Given the description of an element on the screen output the (x, y) to click on. 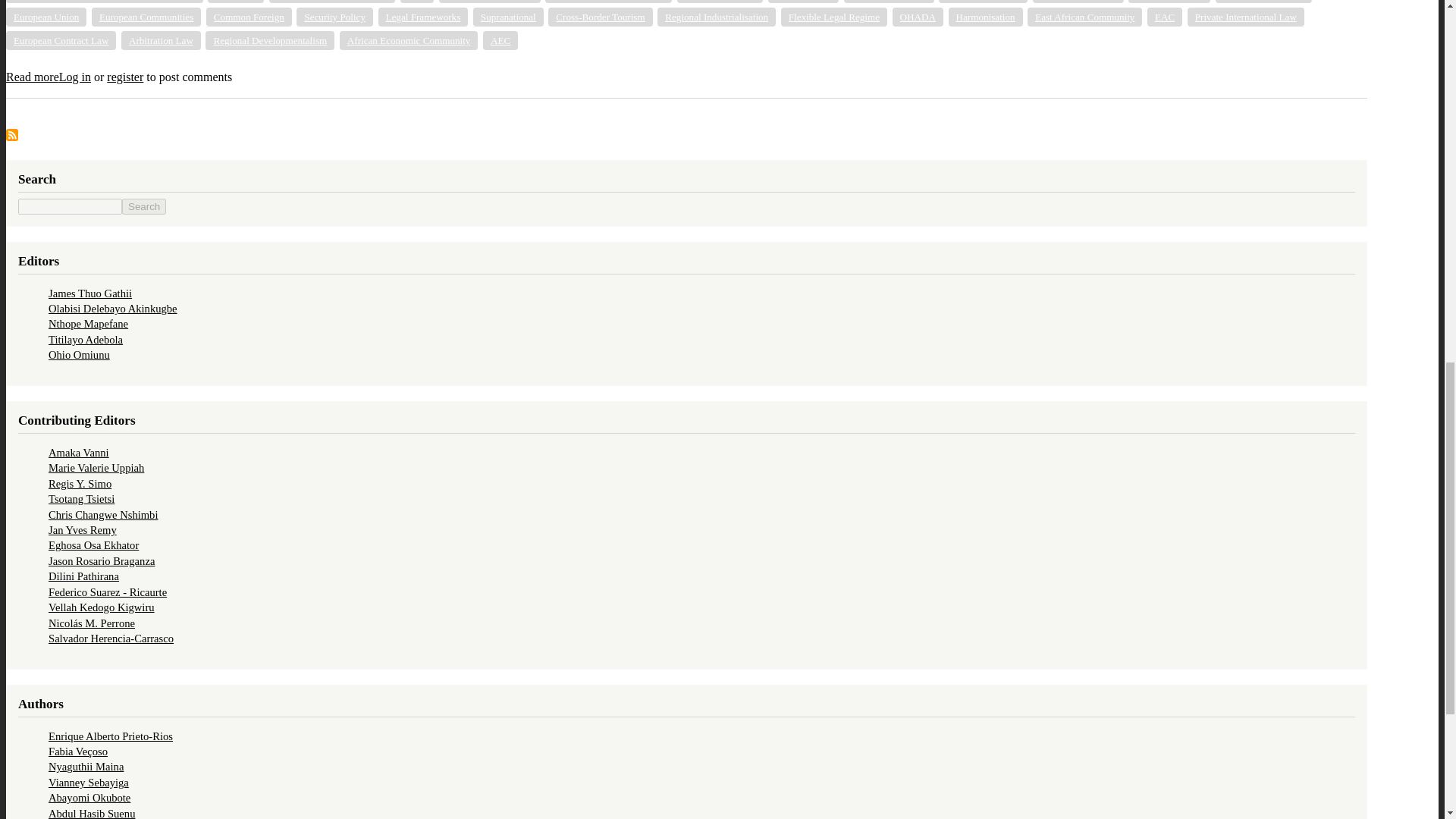
Regional Community Court (607, 1)
ECOWAS (235, 1)
Economic Community of West African States (104, 1)
International Law (719, 1)
Regional Trade Agreements (332, 1)
Enter the terms you wish to search for. (69, 206)
Market Integration (889, 1)
Economic Growth (983, 1)
Economic Integration (489, 1)
RTA (416, 1)
Liberalization (804, 1)
